Given the description of an element on the screen output the (x, y) to click on. 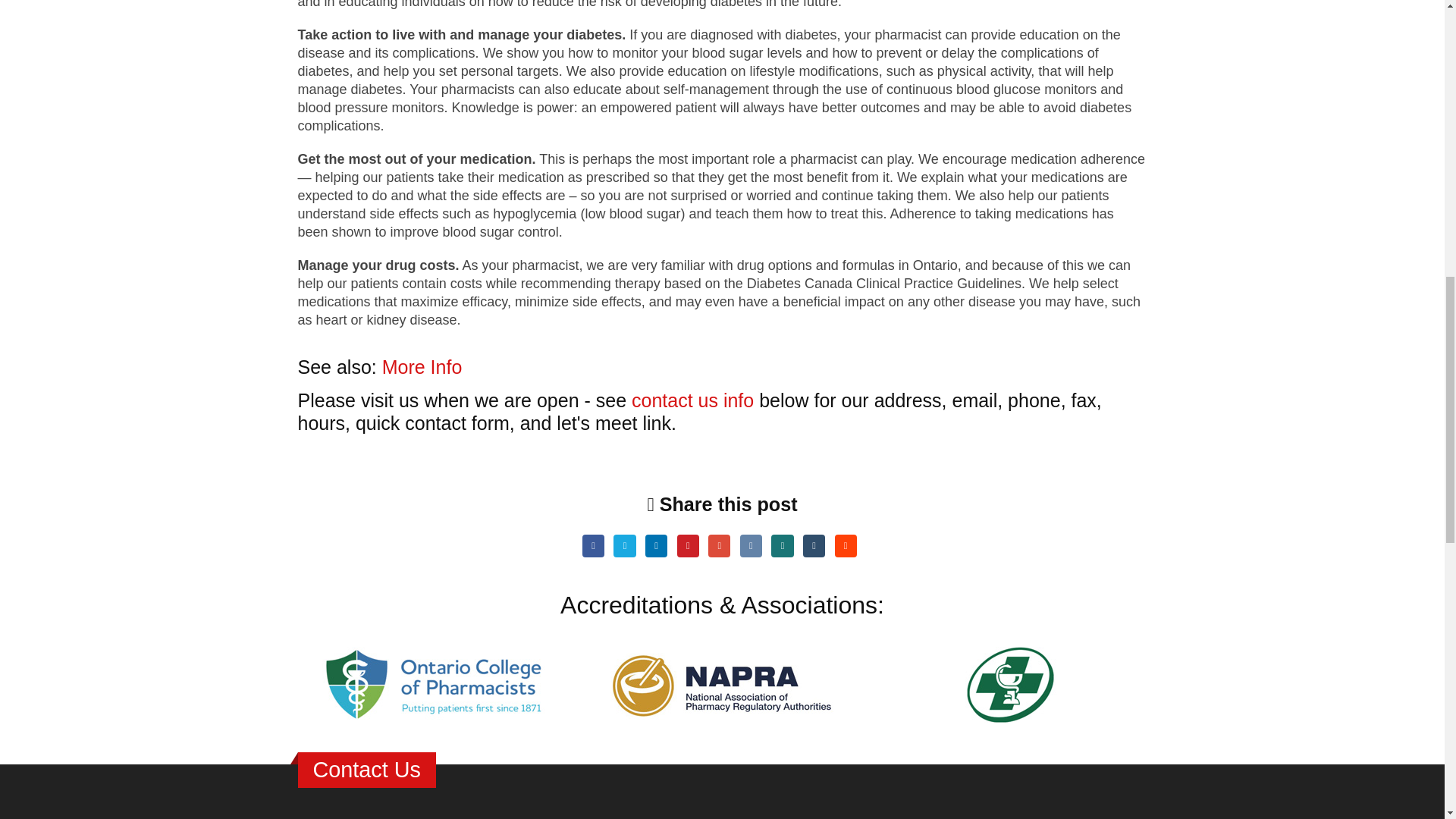
Facebook (593, 545)
More Info (422, 366)
contact us info (692, 400)
LinkedIn (655, 545)
More (422, 366)
Pinterest (687, 545)
Twitter (623, 545)
